Given the description of an element on the screen output the (x, y) to click on. 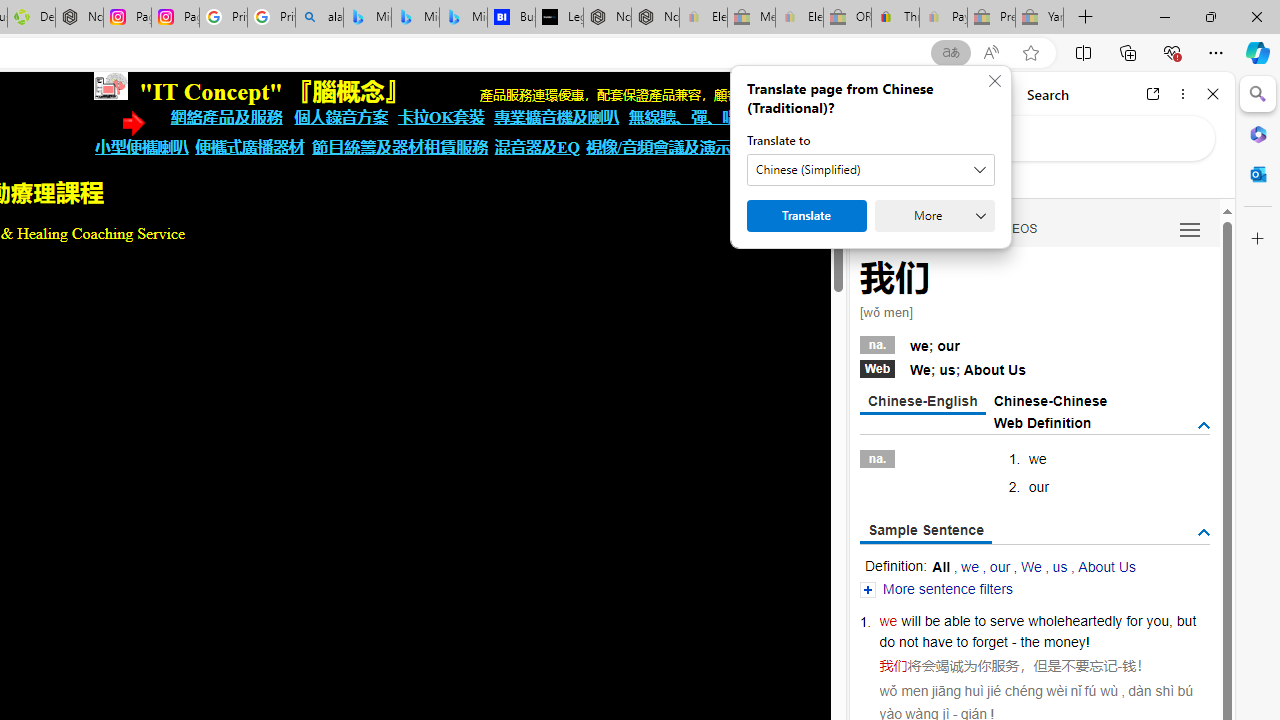
Search Filter, IMAGES (944, 228)
Forward (906, 93)
Search Filter, WEB (884, 228)
for (1134, 620)
VIDEOS (1015, 228)
Microsoft 365 (1258, 133)
Microsoft Bing Travel - Flights from Hong Kong to Bangkok (367, 17)
Outlook (1258, 174)
Search (1258, 94)
Back (874, 93)
